Given the description of an element on the screen output the (x, y) to click on. 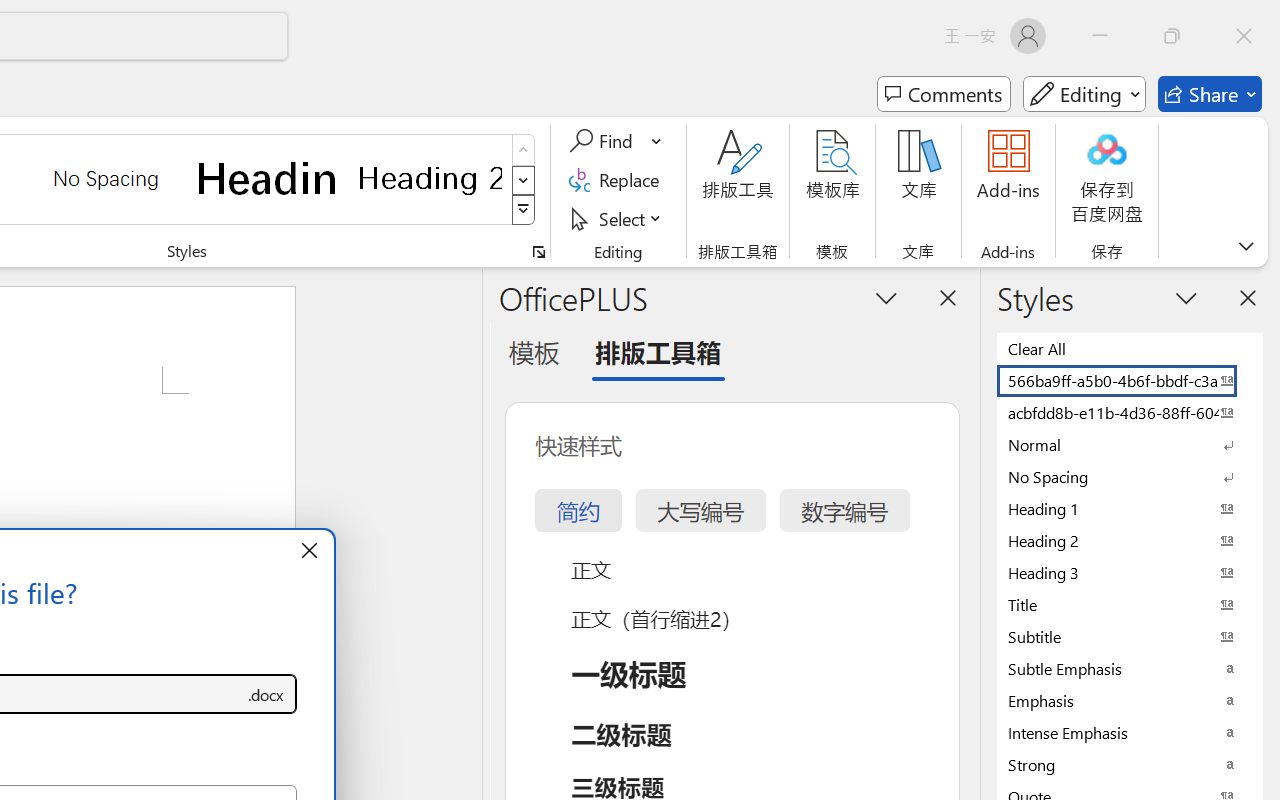
Replace... (617, 179)
Emphasis (1130, 700)
Save as type (265, 694)
Styles (523, 209)
Styles... (538, 252)
Heading 2 (429, 178)
Row Down (523, 180)
Select (618, 218)
